Given the description of an element on the screen output the (x, y) to click on. 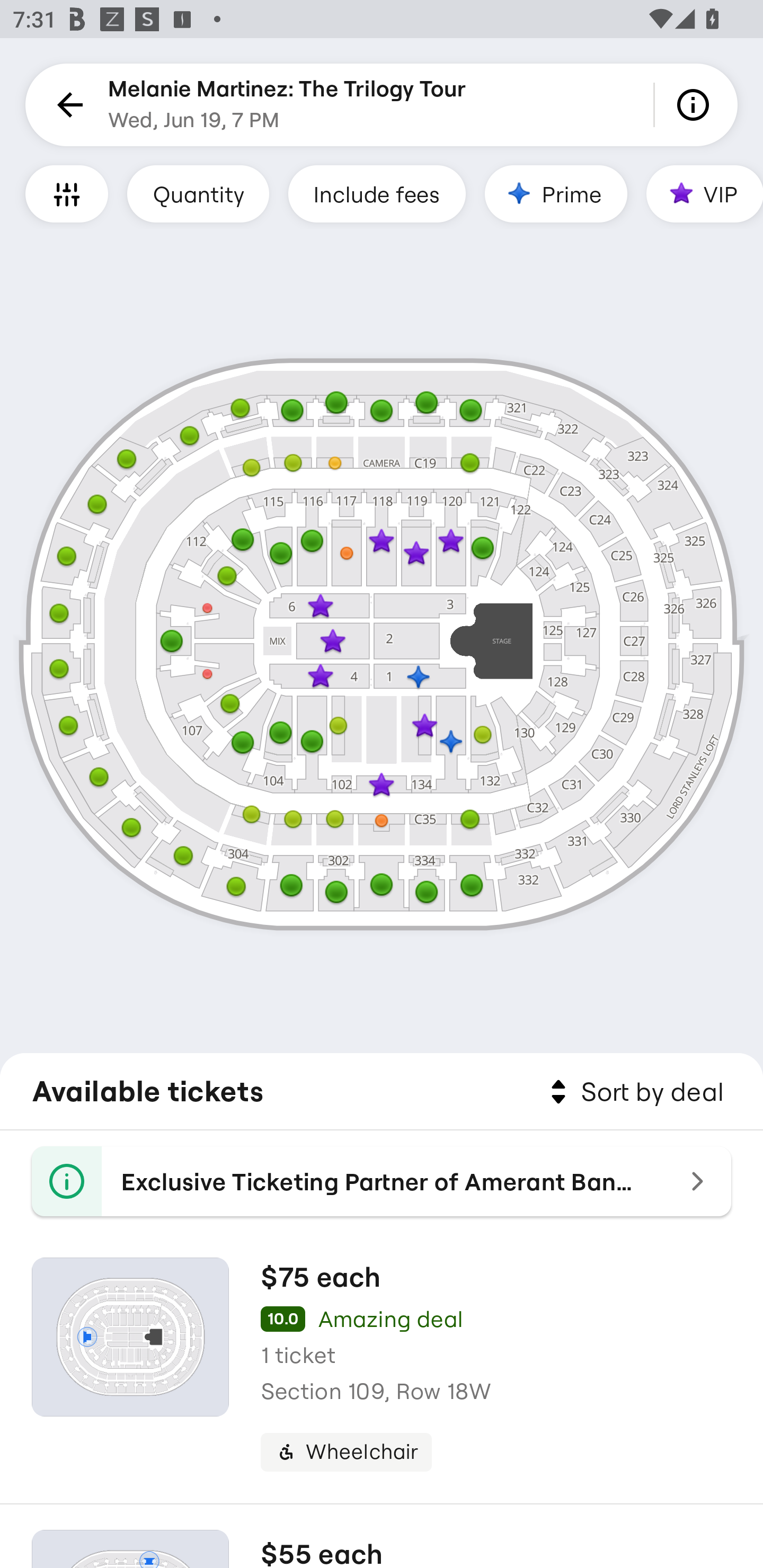
Back (66, 104)
Info (695, 104)
Filters and Accessible Seating (66, 193)
Quantity (198, 193)
Include fees (376, 193)
Prime (555, 193)
VIP (704, 193)
Sort by deal (633, 1091)
Exclusive Ticketing Partner of Amerant Bank Arena (381, 1181)
